Given the description of an element on the screen output the (x, y) to click on. 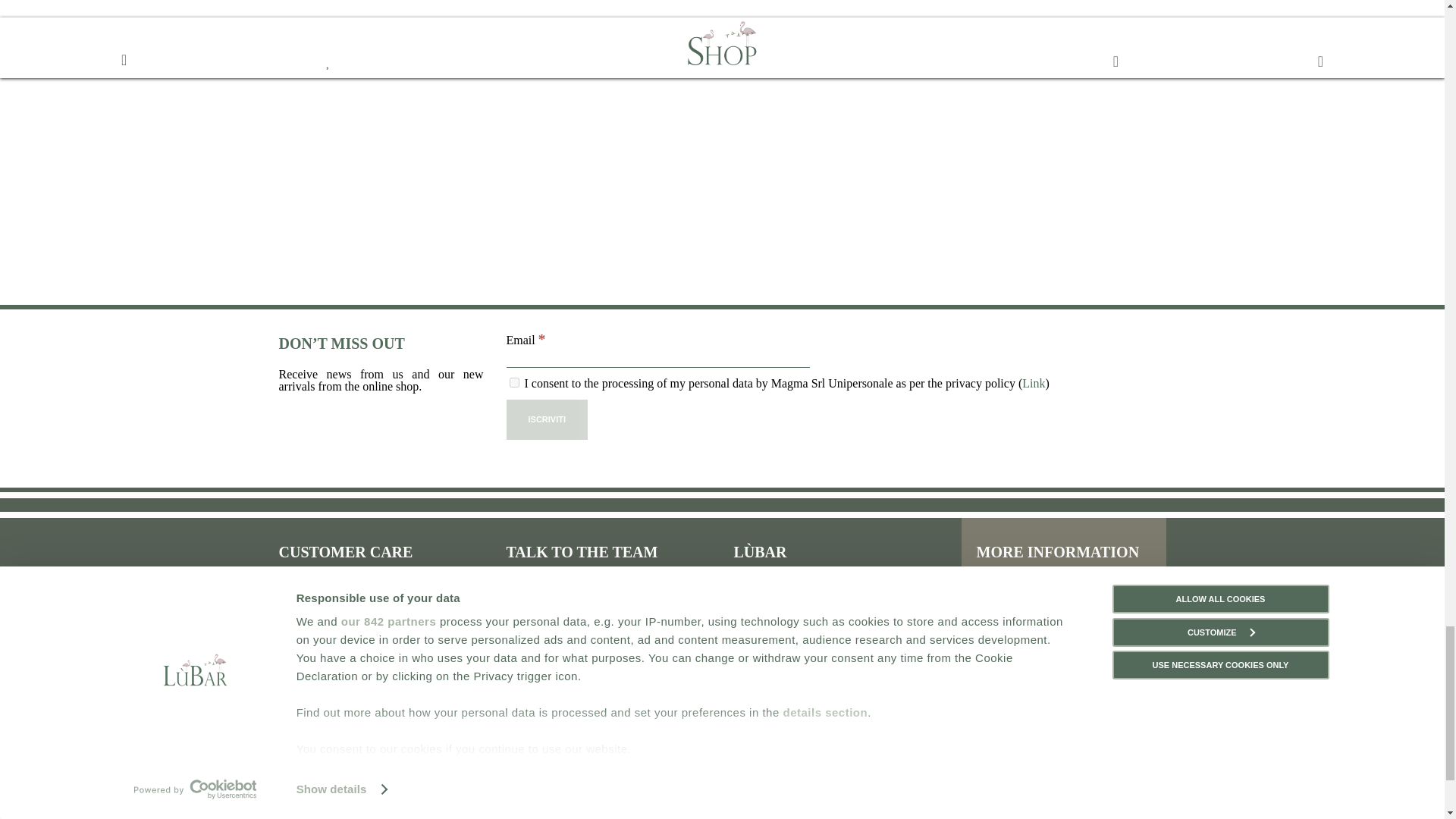
ISCRIVITI (547, 419)
1 (514, 382)
